Given the description of an element on the screen output the (x, y) to click on. 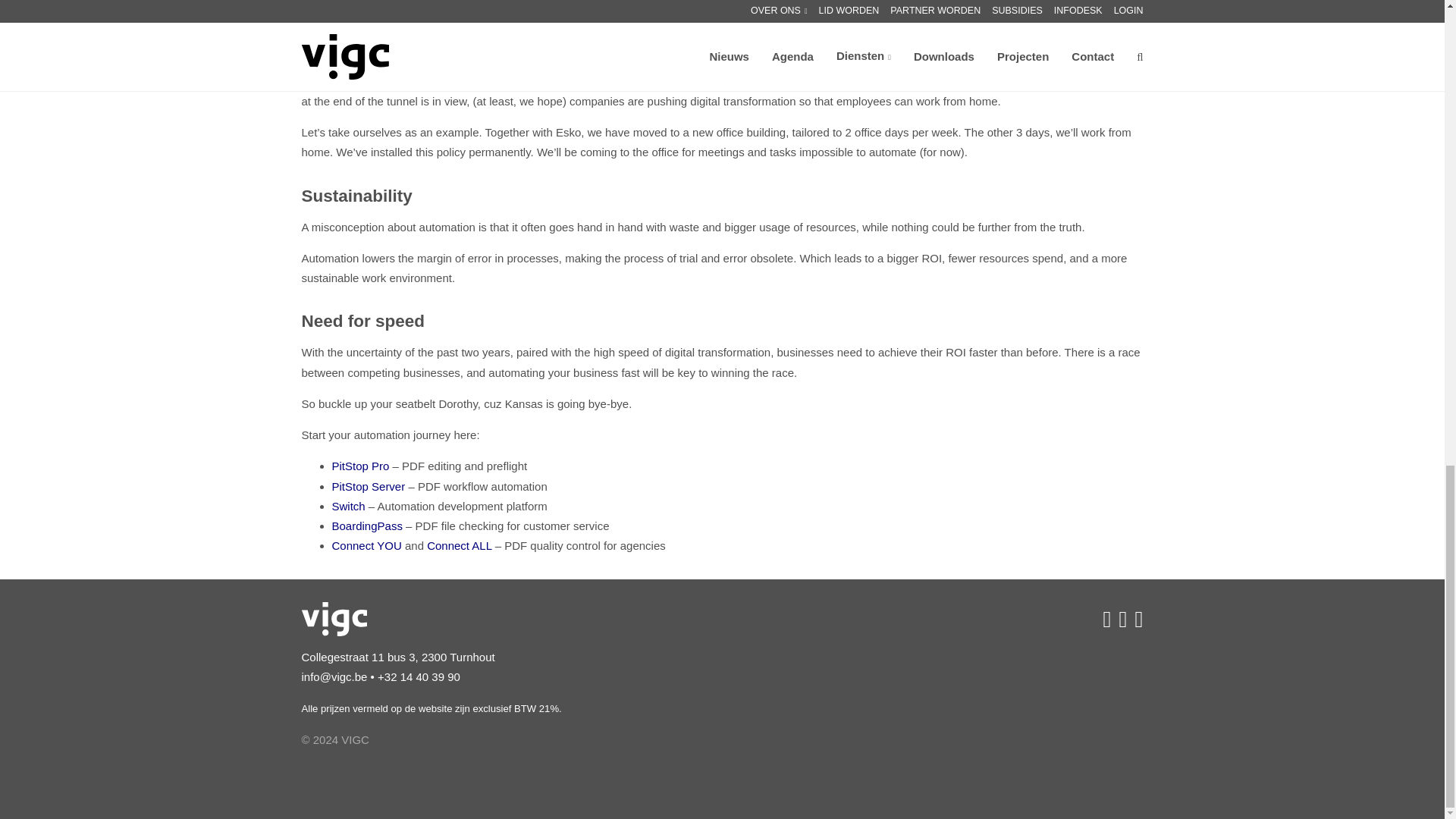
VIGC (506, 618)
Connect ALL (459, 545)
Switch (348, 505)
Connect YOU (366, 545)
PitStop Server (368, 485)
logo (333, 618)
PitStop Pro (360, 465)
BoardingPass (367, 525)
